Given the description of an element on the screen output the (x, y) to click on. 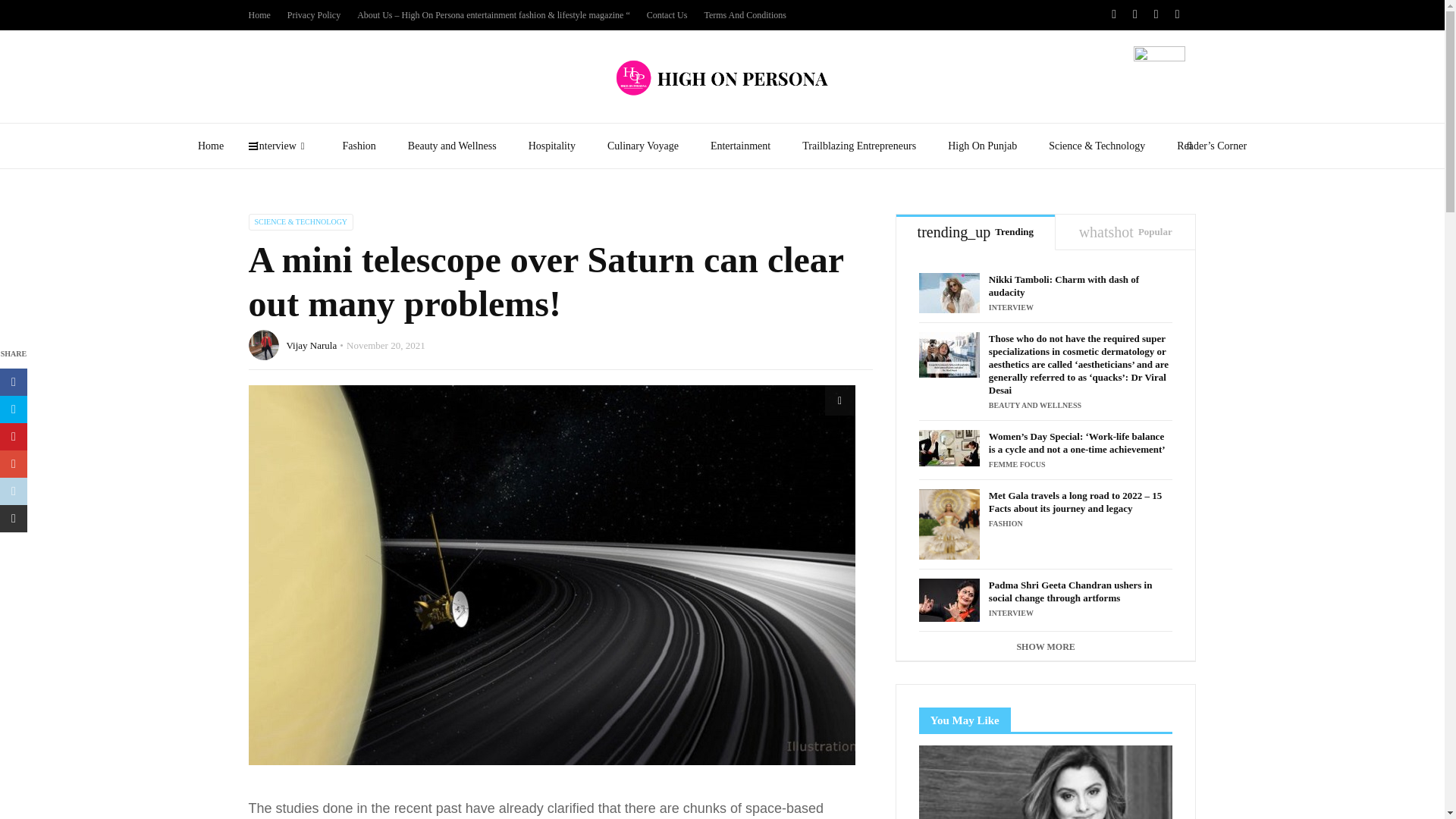
Trailblazing Entrepreneurs (858, 145)
Home (211, 145)
Terms And Conditions (744, 15)
Contact Us (666, 15)
Culinary Voyage (642, 145)
High On Punjab (981, 145)
Beauty and Wellness (451, 145)
Fashion (358, 145)
Interview (283, 145)
Hospitality (551, 145)
